Given the description of an element on the screen output the (x, y) to click on. 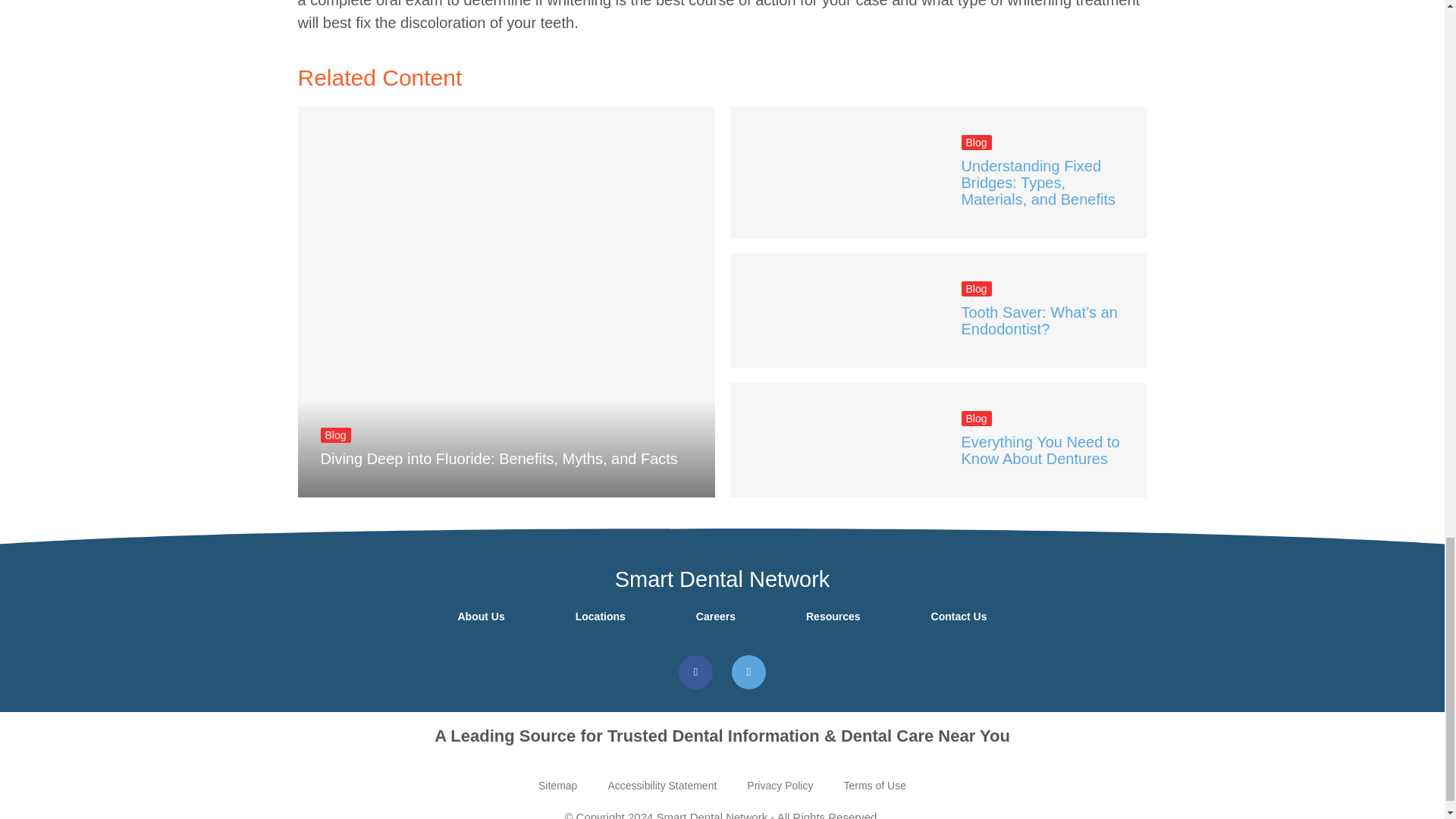
Understanding Fixed Bridges: Types, Materials, and Benefits (1037, 183)
Diving Deep into Fluoride: Benefits, Myths, and Facts (498, 458)
About Us (480, 616)
Careers (716, 616)
Locations (600, 616)
Understanding Fixed Bridges: Types, Materials, and Benefits (833, 172)
Everything You Need to Know About Dentures (1039, 450)
Resources (833, 616)
Everything You Need to Know About Dentures (833, 440)
Contact Us (959, 616)
